Given the description of an element on the screen output the (x, y) to click on. 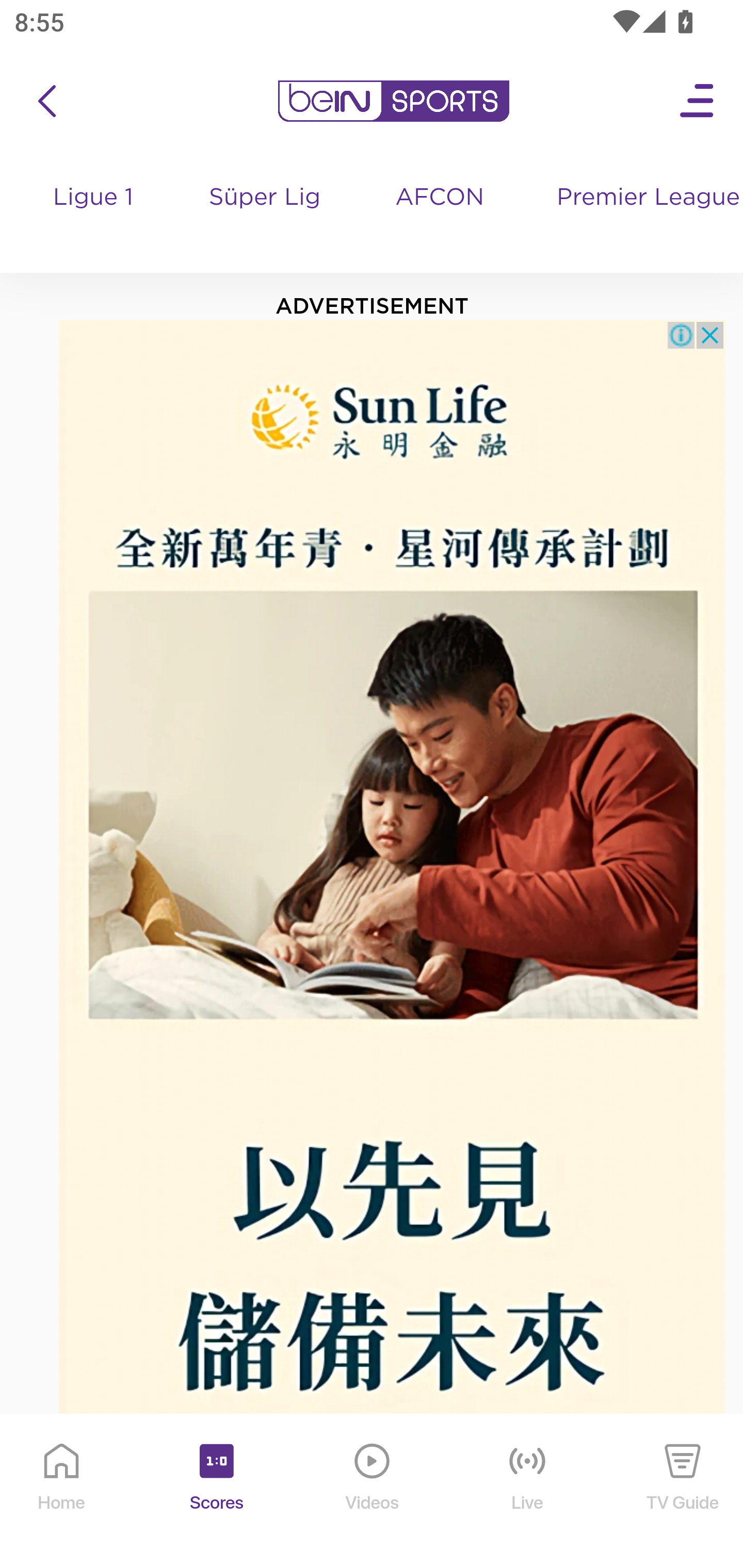
en-us?platform=mobile_android bein logo (392, 101)
icon back (46, 101)
Open Menu Icon (697, 101)
Ligue 1 (94, 216)
Süper Lig (265, 216)
AFCON (439, 198)
Premier League (642, 198)
Home Home Icon Home (61, 1491)
Scores Scores Icon Scores (216, 1491)
Videos Videos Icon Videos (372, 1491)
TV Guide TV Guide Icon TV Guide (682, 1491)
